Given the description of an element on the screen output the (x, y) to click on. 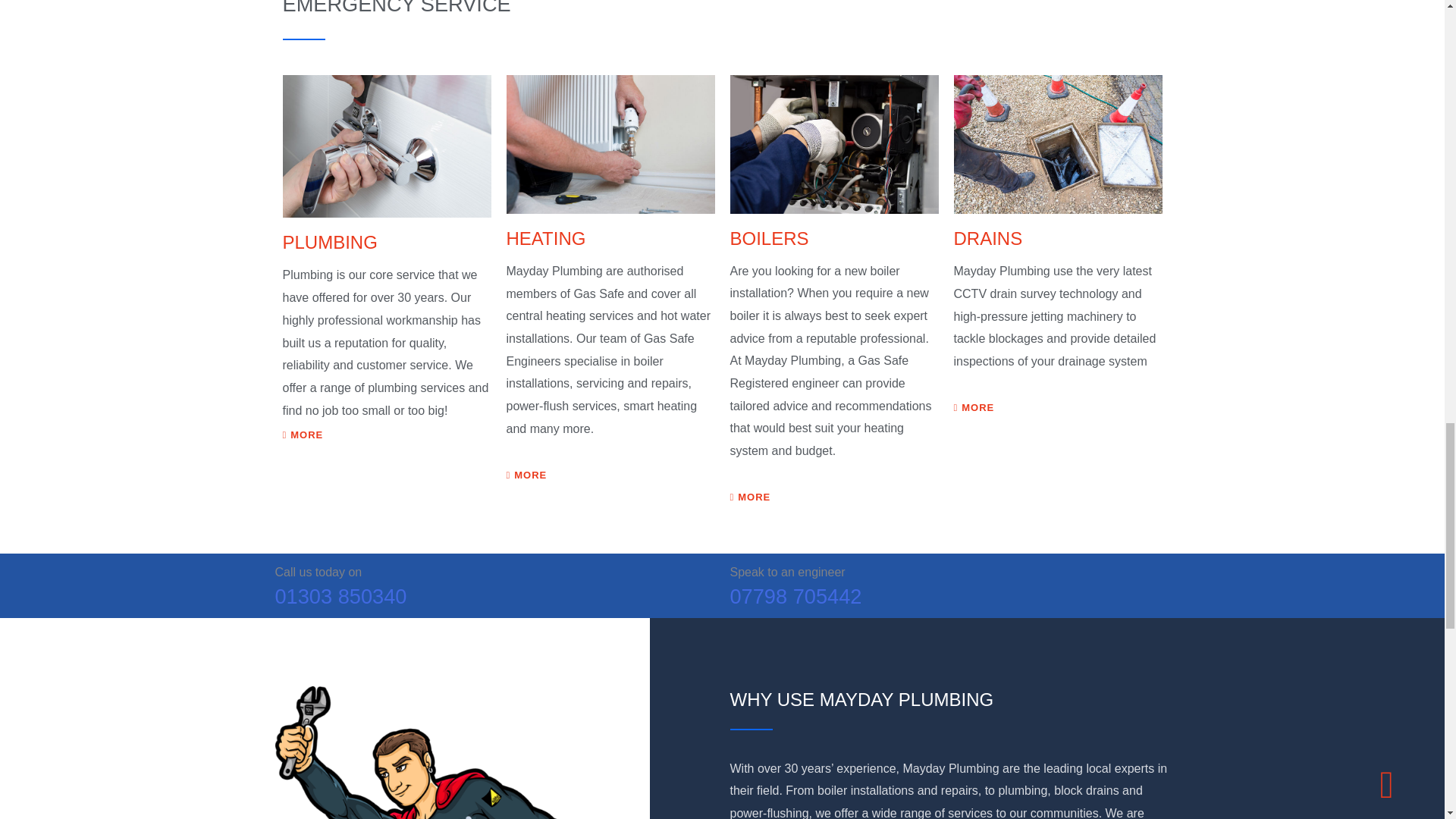
Heating (610, 144)
MORE (973, 407)
PLUMBING (386, 146)
MORE (526, 474)
MORE (749, 497)
Drains (1057, 144)
01303 850340 (494, 596)
07798 705442 (949, 596)
MORE (302, 434)
Boilers (833, 144)
